Given the description of an element on the screen output the (x, y) to click on. 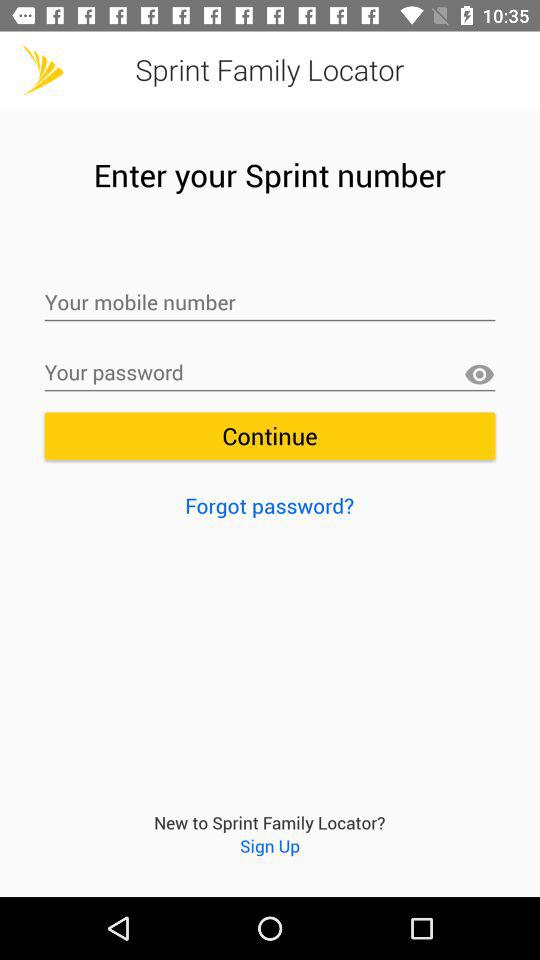
choose the icon below the new to sprint item (270, 845)
